Given the description of an element on the screen output the (x, y) to click on. 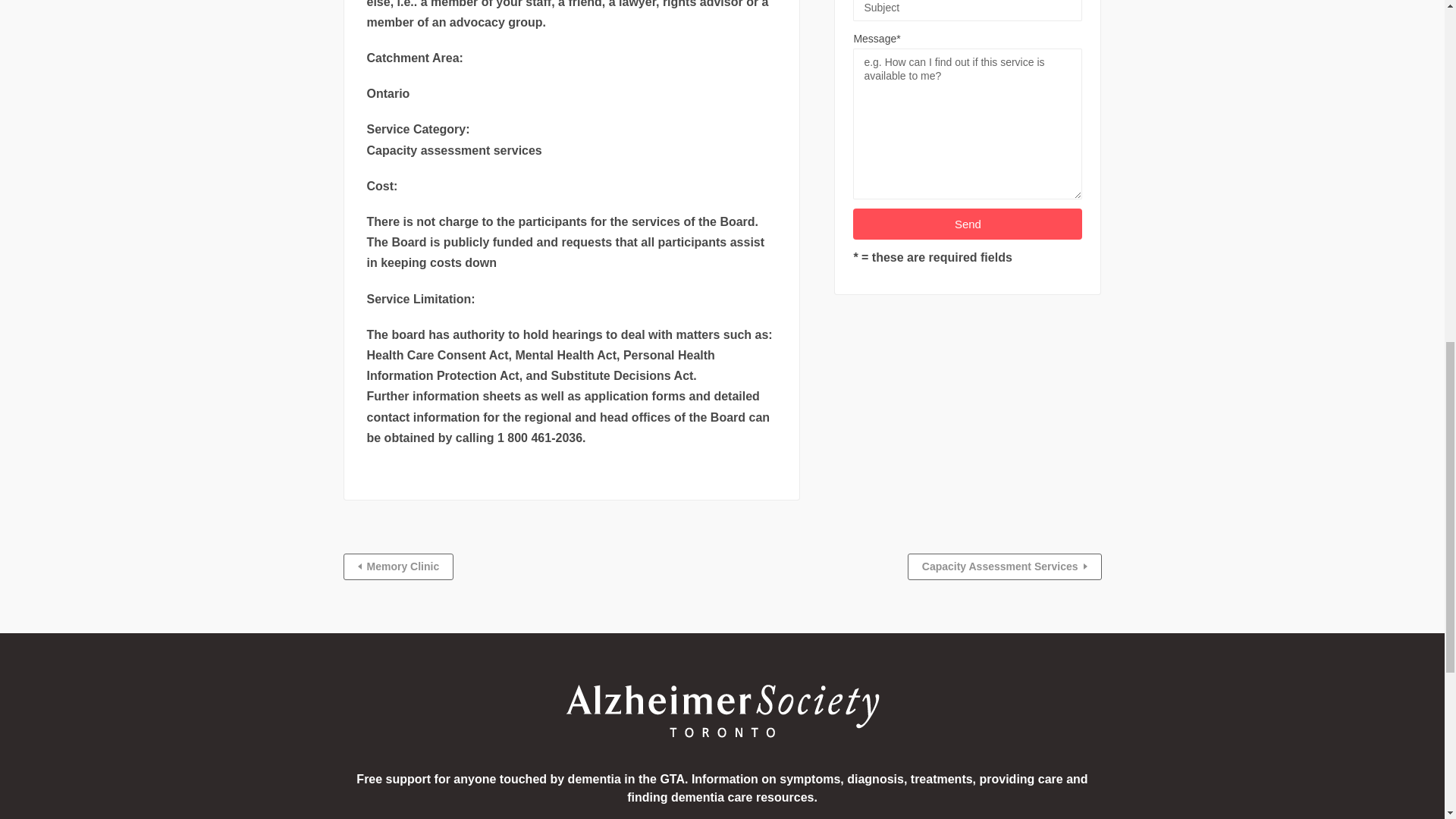
Capacity Assessment Services (1004, 566)
Send (967, 223)
Memory Clinic (397, 566)
Send (967, 223)
